Given the description of an element on the screen output the (x, y) to click on. 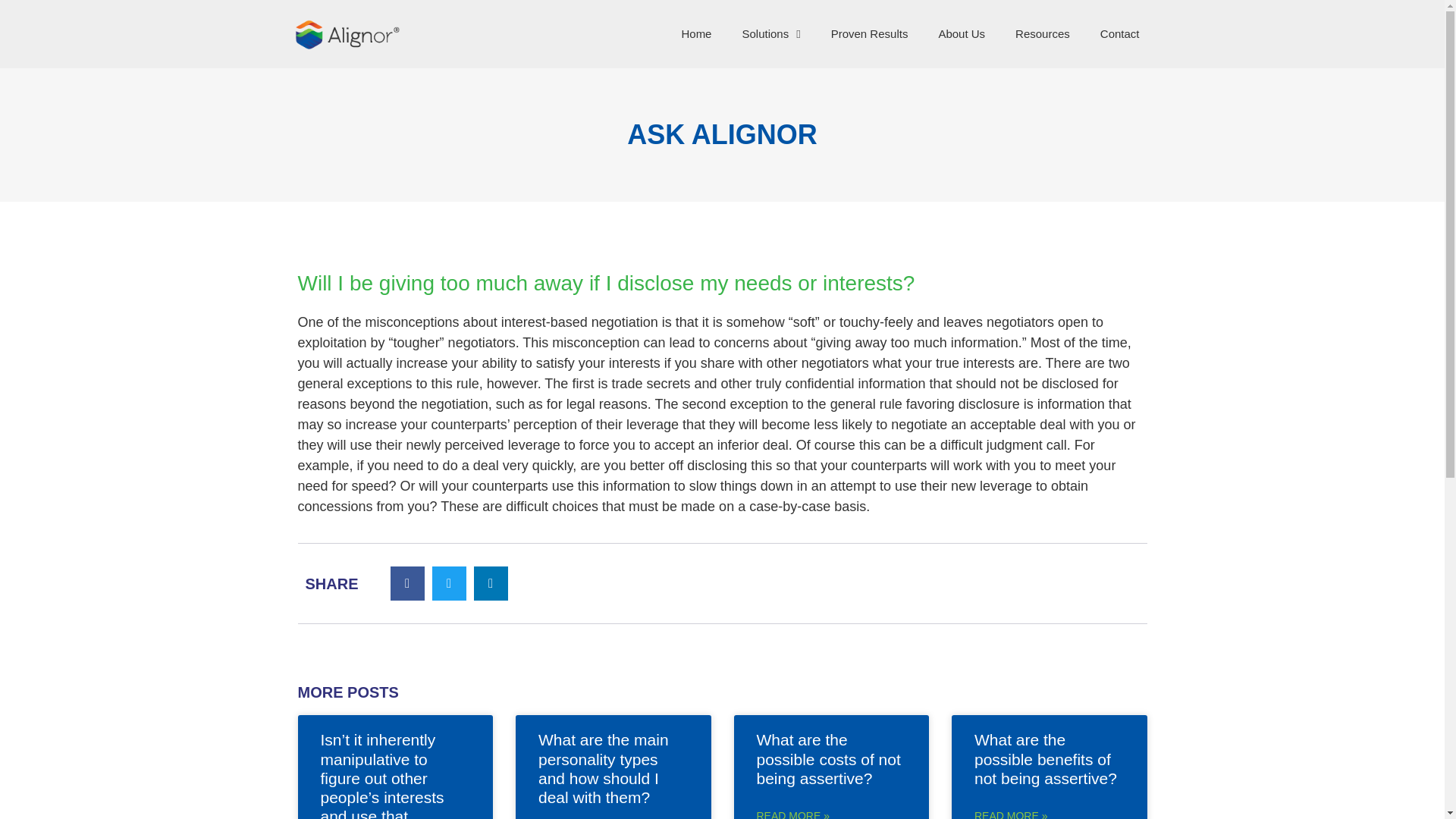
Resources (1042, 33)
About Us (961, 33)
Contact (1119, 33)
Proven Results (869, 33)
Solutions (770, 33)
Home (695, 33)
